Given the description of an element on the screen output the (x, y) to click on. 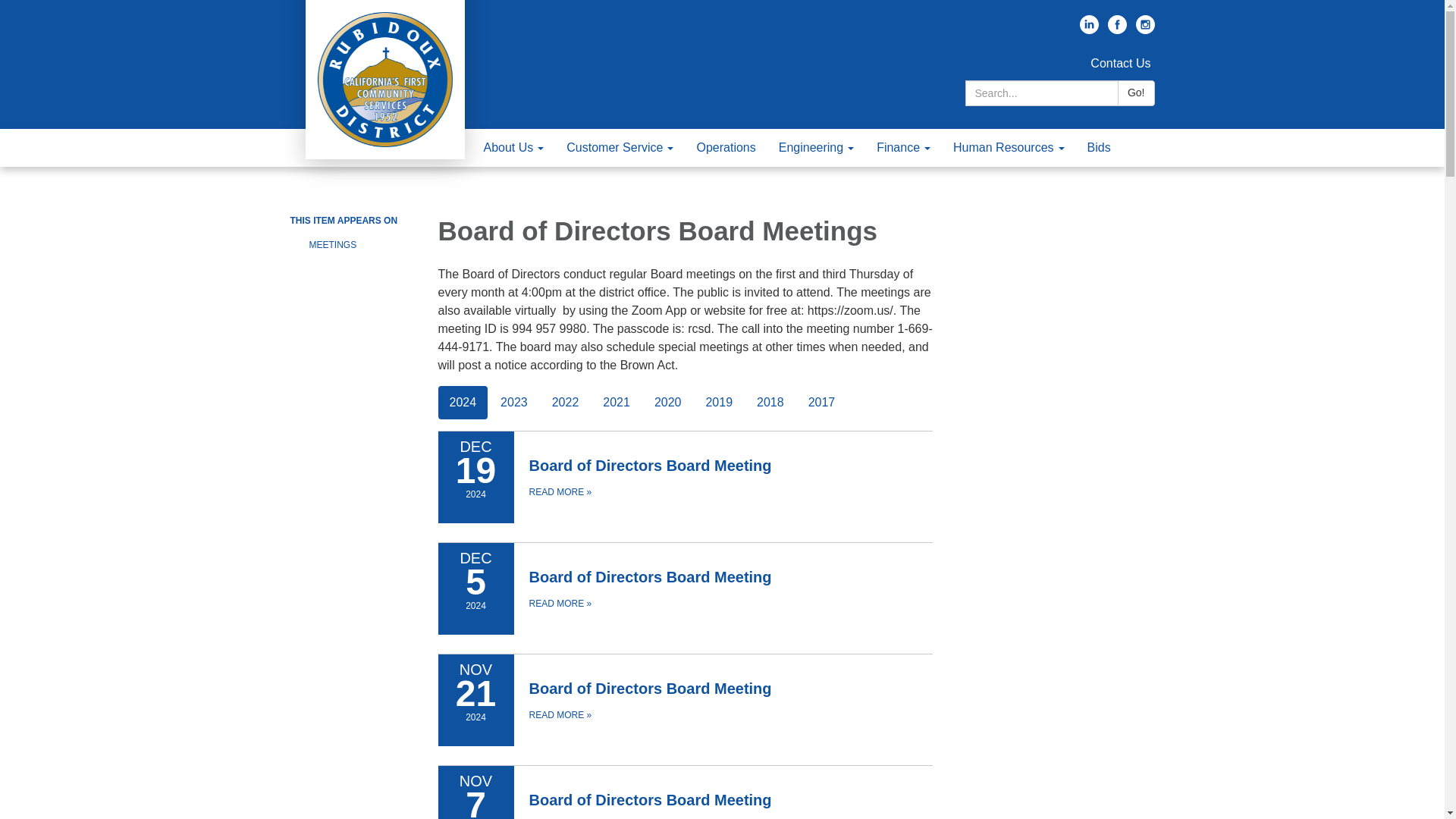
About Us (512, 147)
Bids (1098, 147)
Engineering (815, 147)
Go! (1136, 93)
Contact Us (1119, 62)
Human Resources (1008, 147)
2024 (462, 402)
Customer Service (619, 147)
Operations (725, 147)
Finance (903, 147)
MEETINGS (361, 244)
